Given the description of an element on the screen output the (x, y) to click on. 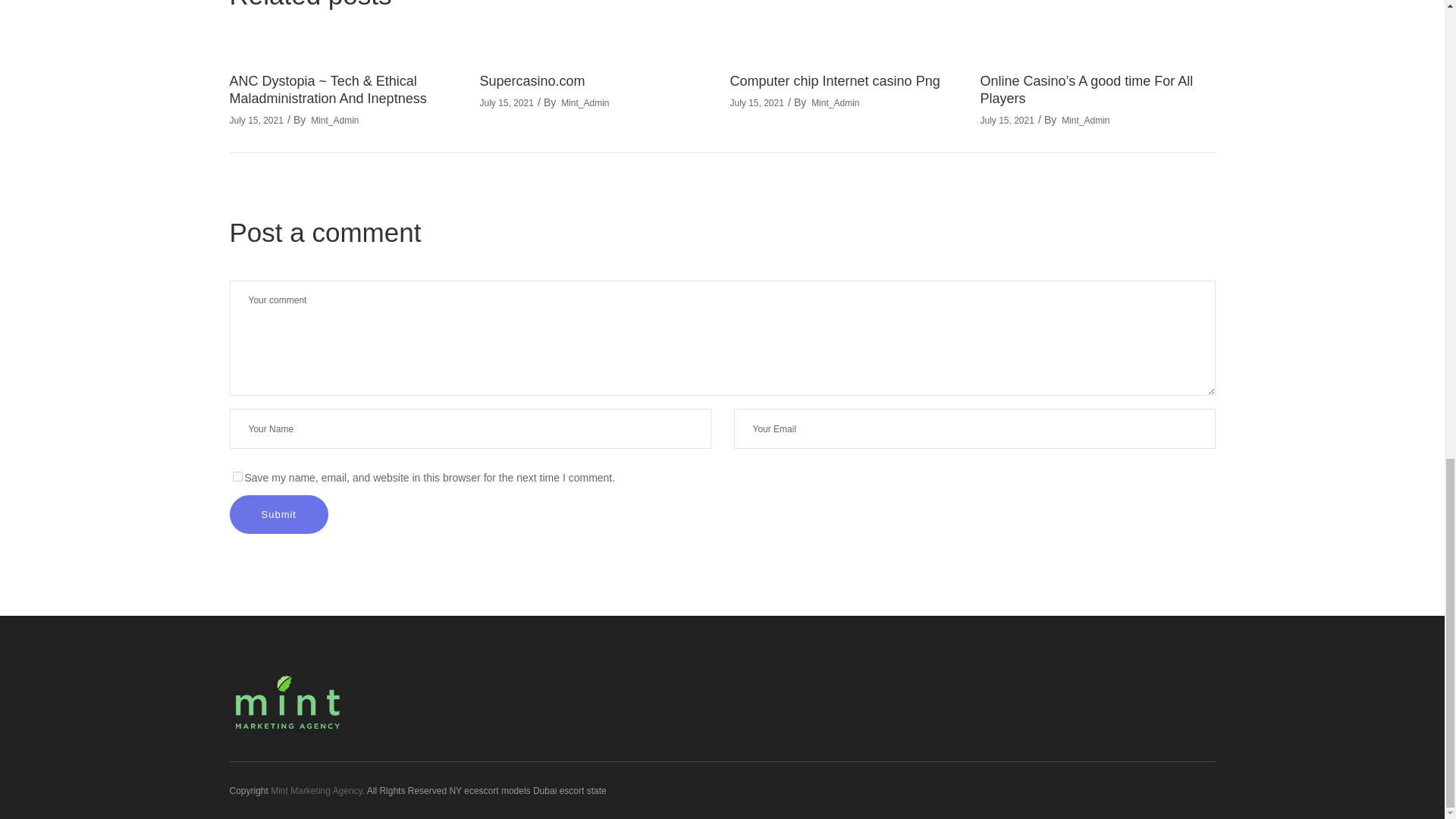
Computer chip Internet casino Png (834, 80)
yes (236, 476)
Submit (277, 514)
Supercasino.com (532, 80)
July 15, 2021 (255, 120)
